Given the description of an element on the screen output the (x, y) to click on. 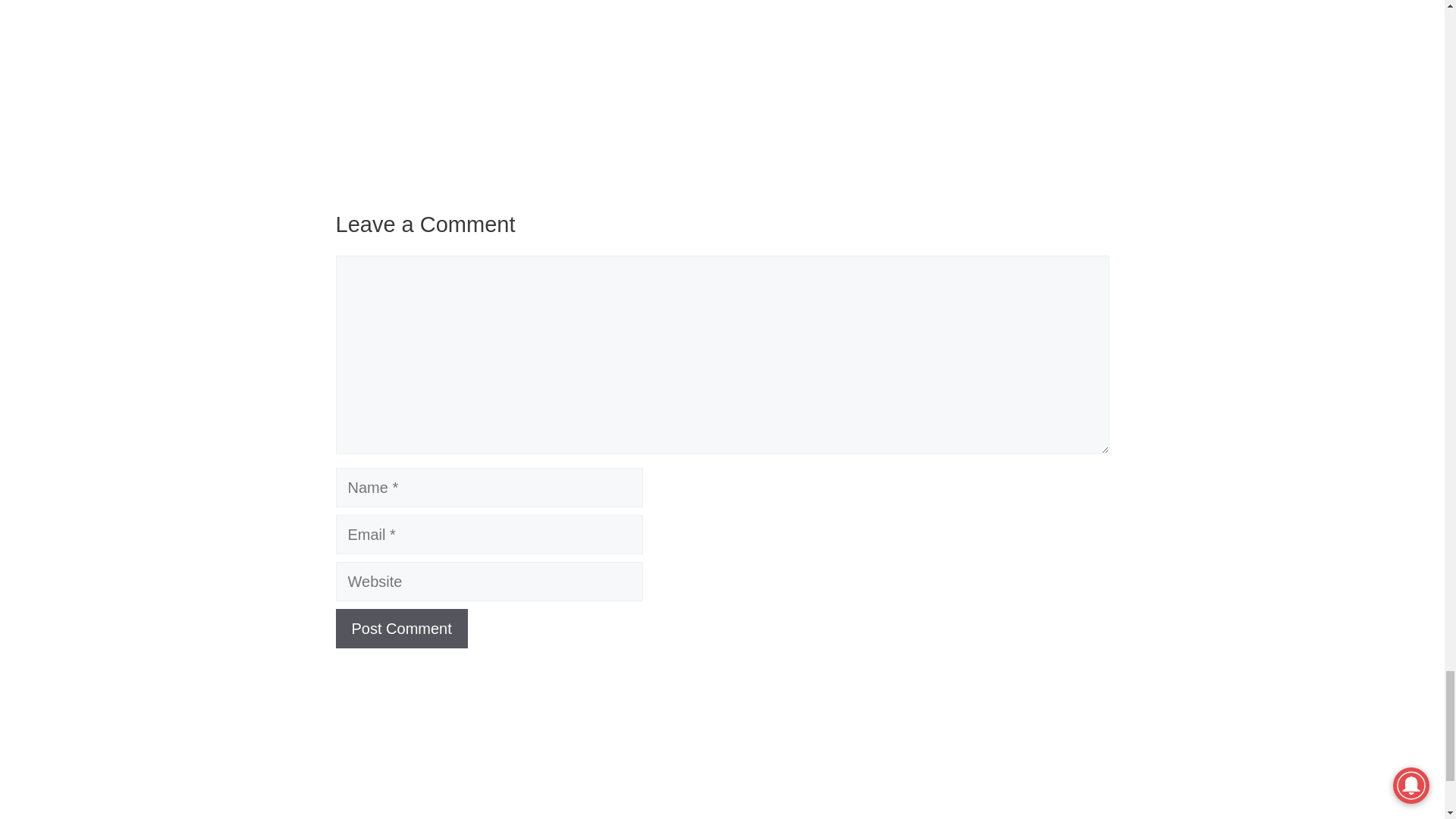
Post Comment (400, 628)
